Given the description of an element on the screen output the (x, y) to click on. 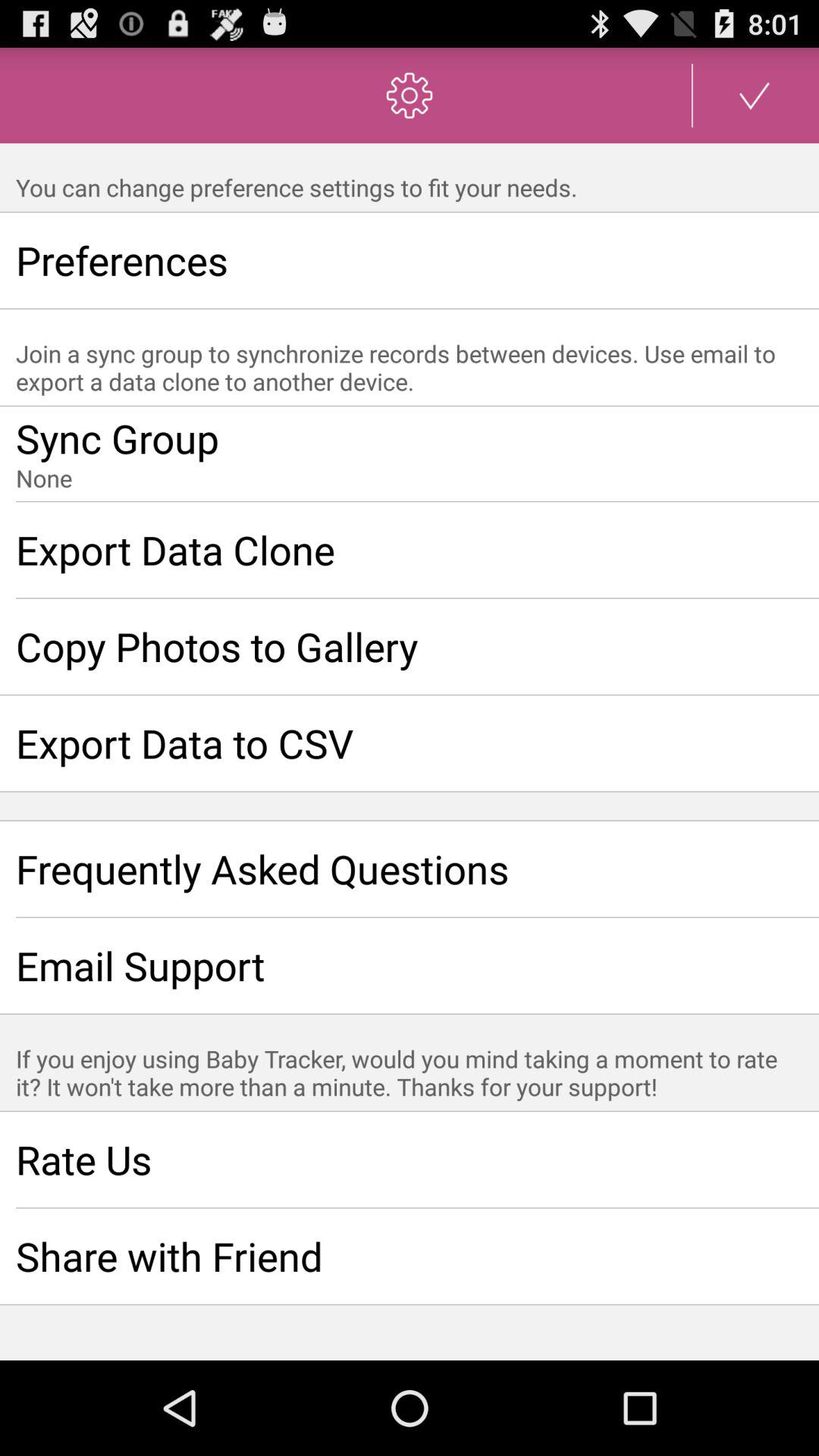
open the item at the top right corner (755, 95)
